Given the description of an element on the screen output the (x, y) to click on. 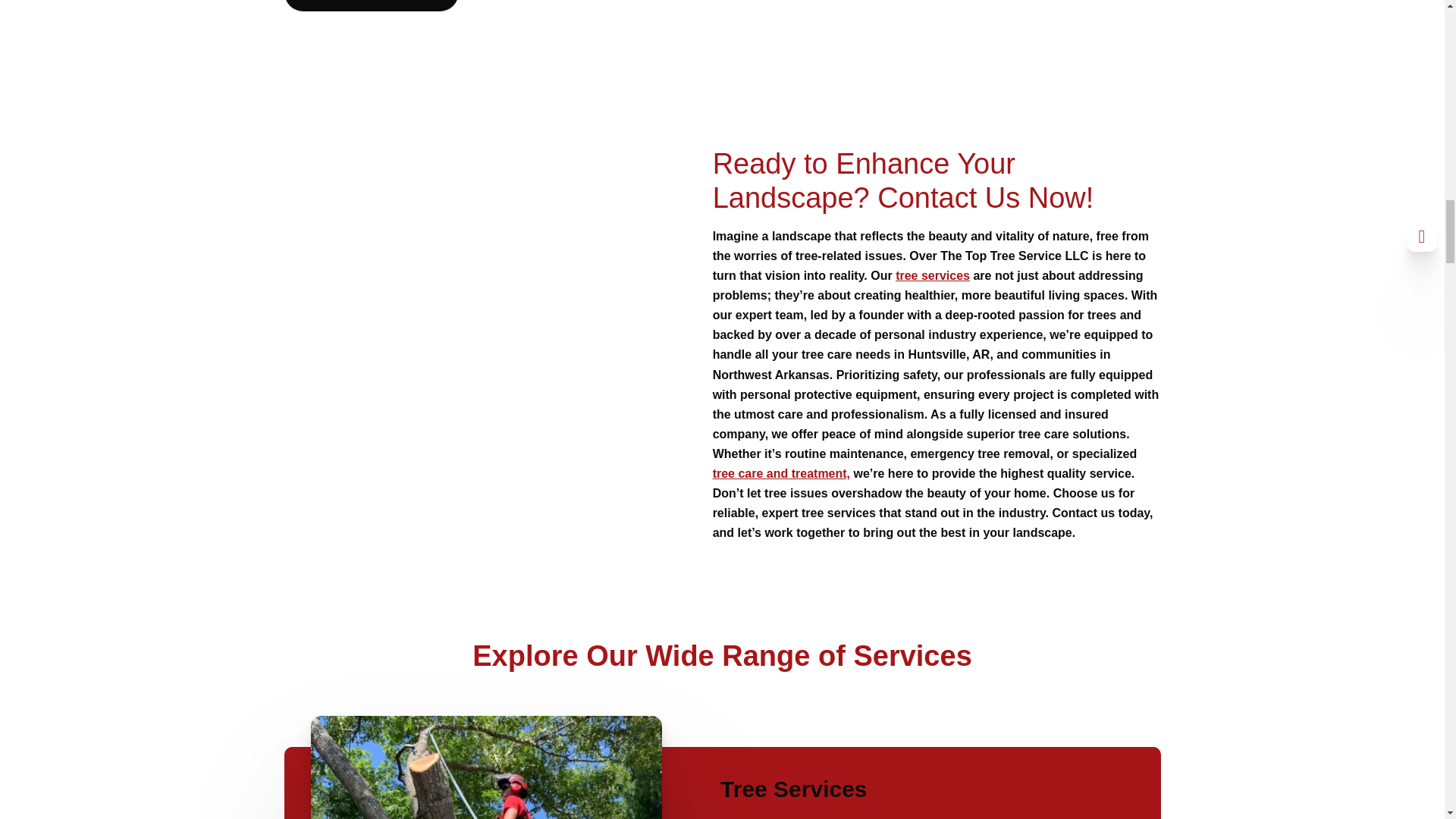
GET IN TOUCH (370, 5)
tree care and treatment, (781, 472)
tree services (932, 275)
